Given the description of an element on the screen output the (x, y) to click on. 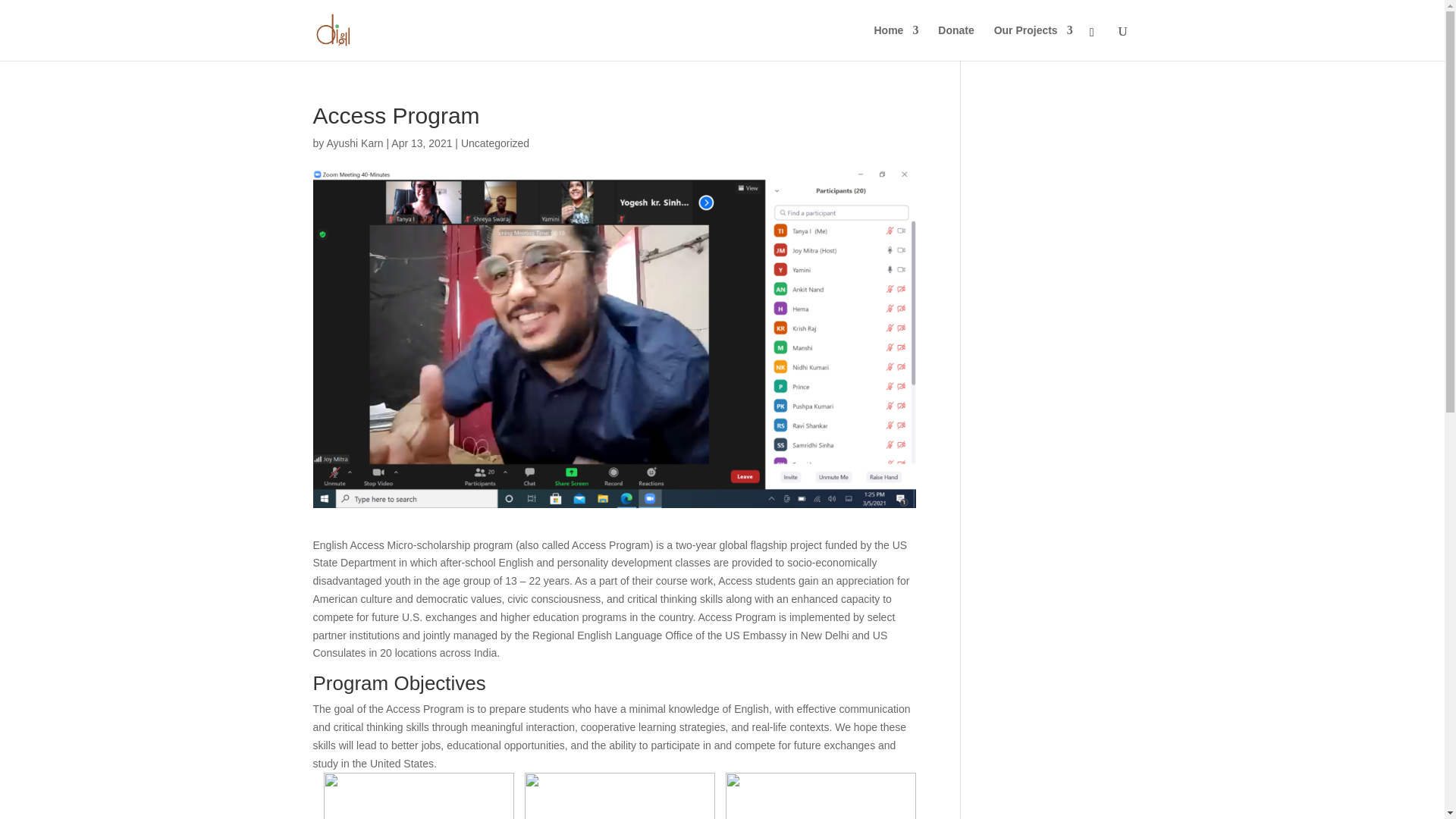
Posts by Ayushi Karn (354, 143)
Donate (955, 42)
Ayushi Karn (354, 143)
Home (895, 42)
Our Projects (1033, 42)
